Given the description of an element on the screen output the (x, y) to click on. 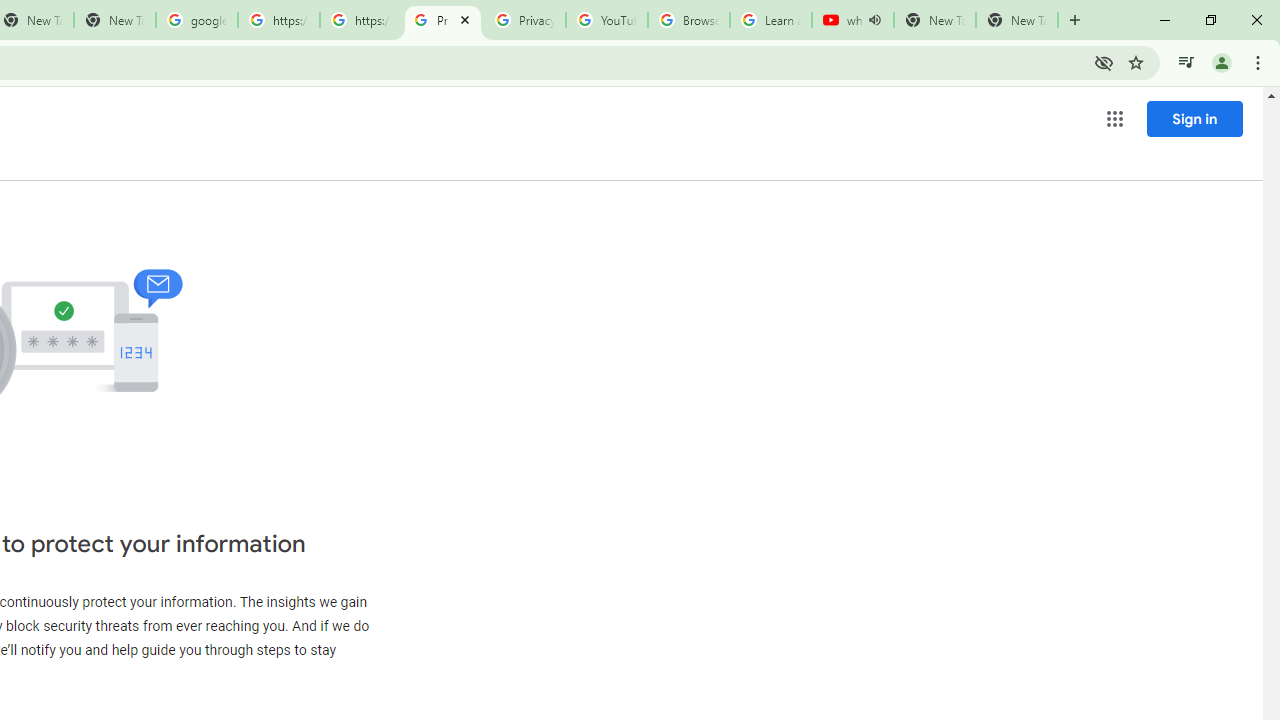
Control your music, videos, and more (1185, 62)
Sign in (1194, 118)
Browse Chrome as a guest - Computer - Google Chrome Help (688, 20)
Minimize (1165, 20)
Close (464, 19)
Google apps (1114, 118)
You (1221, 62)
YouTube (606, 20)
Third-party cookies blocked (1103, 62)
https://scholar.google.com/ (278, 20)
Mute tab (874, 20)
Chrome (1260, 62)
